Given the description of an element on the screen output the (x, y) to click on. 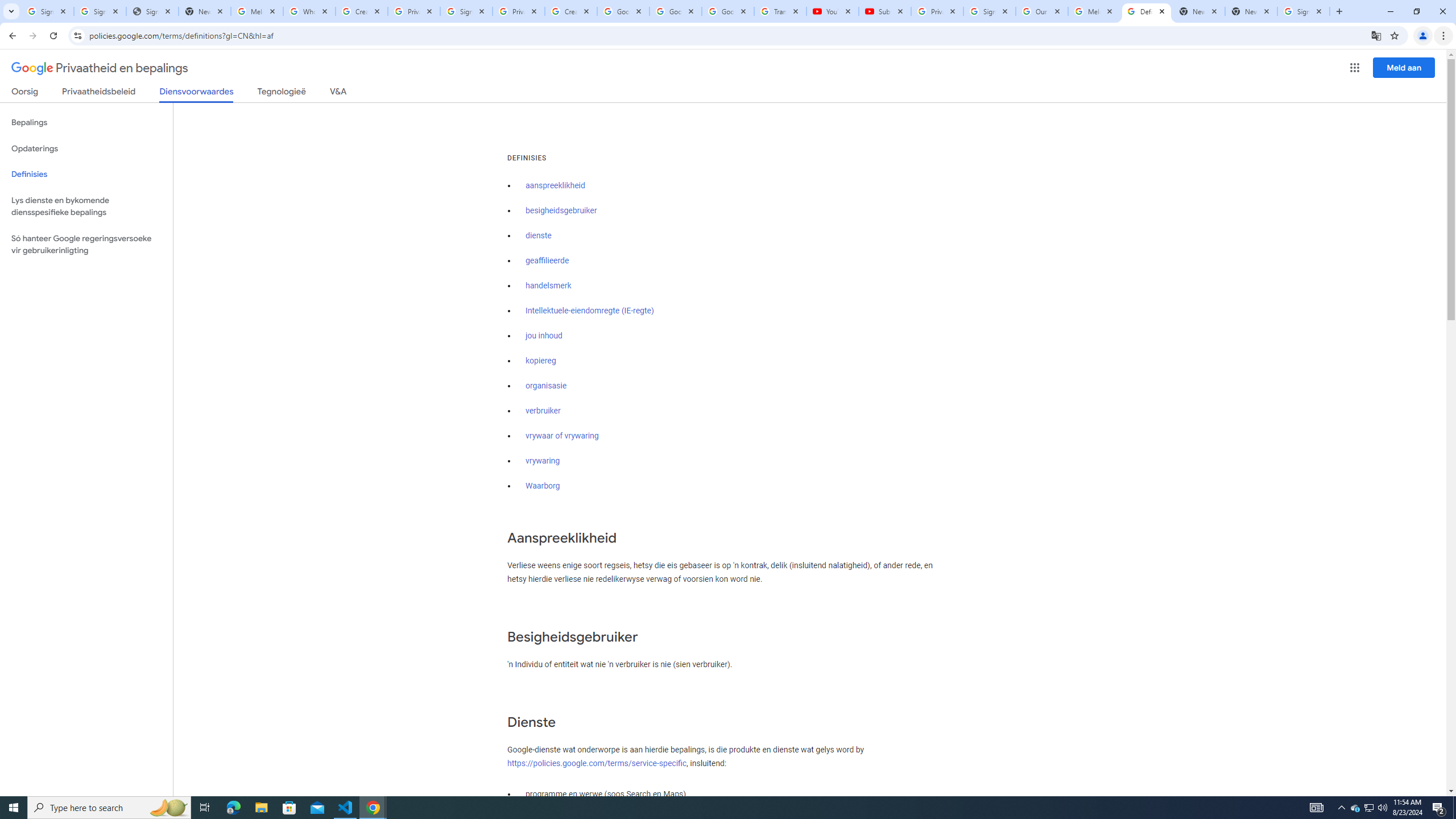
https://policies.google.com/terms/service-specific (596, 763)
kopiereg (540, 361)
vrywaar of vrywaring (561, 435)
V&A (337, 93)
Sign in - Google Accounts (466, 11)
handelsmerk (548, 285)
organisasie (545, 385)
Translate this page (1376, 35)
Opdaterings (86, 148)
